Given the description of an element on the screen output the (x, y) to click on. 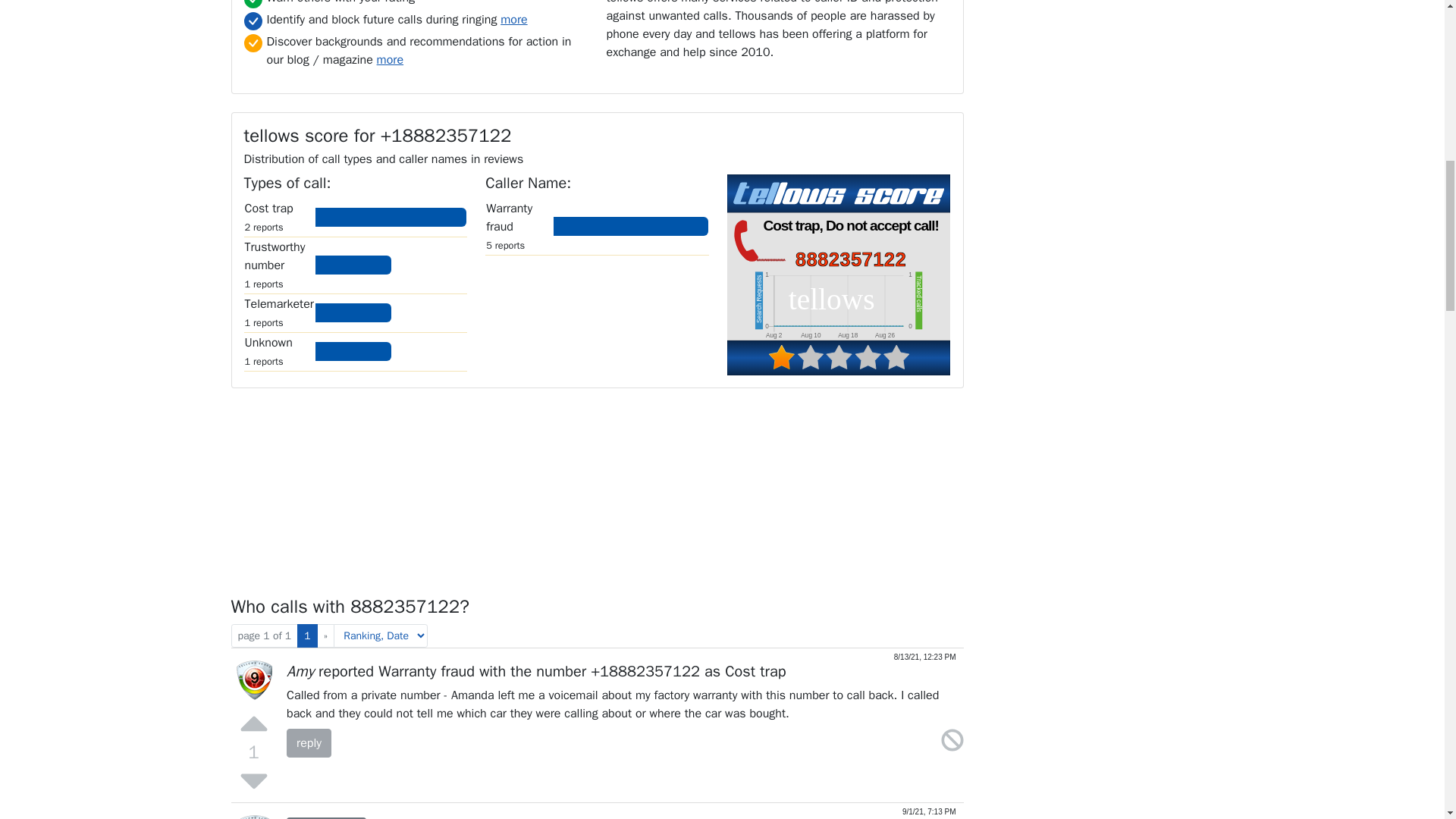
more (390, 59)
reply (308, 742)
page 1 of 1 (264, 635)
Investigator (326, 818)
more (513, 19)
Evaluate the comment as not helpful (253, 777)
Evaluate the comment as very helpful (253, 720)
